Given the description of an element on the screen output the (x, y) to click on. 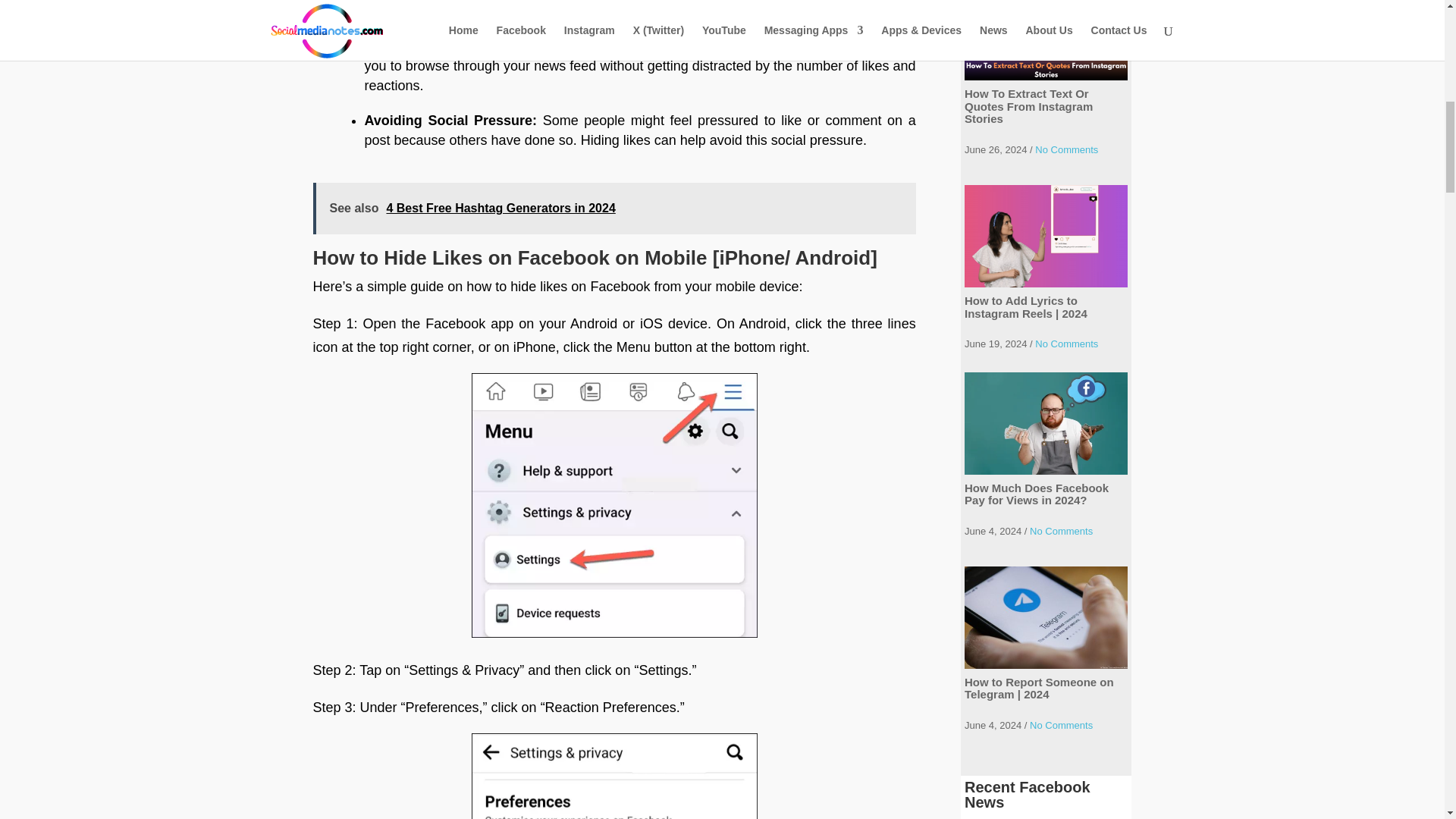
See also  4 Best Free Hashtag Generators in 2024 (614, 208)
